Given the description of an element on the screen output the (x, y) to click on. 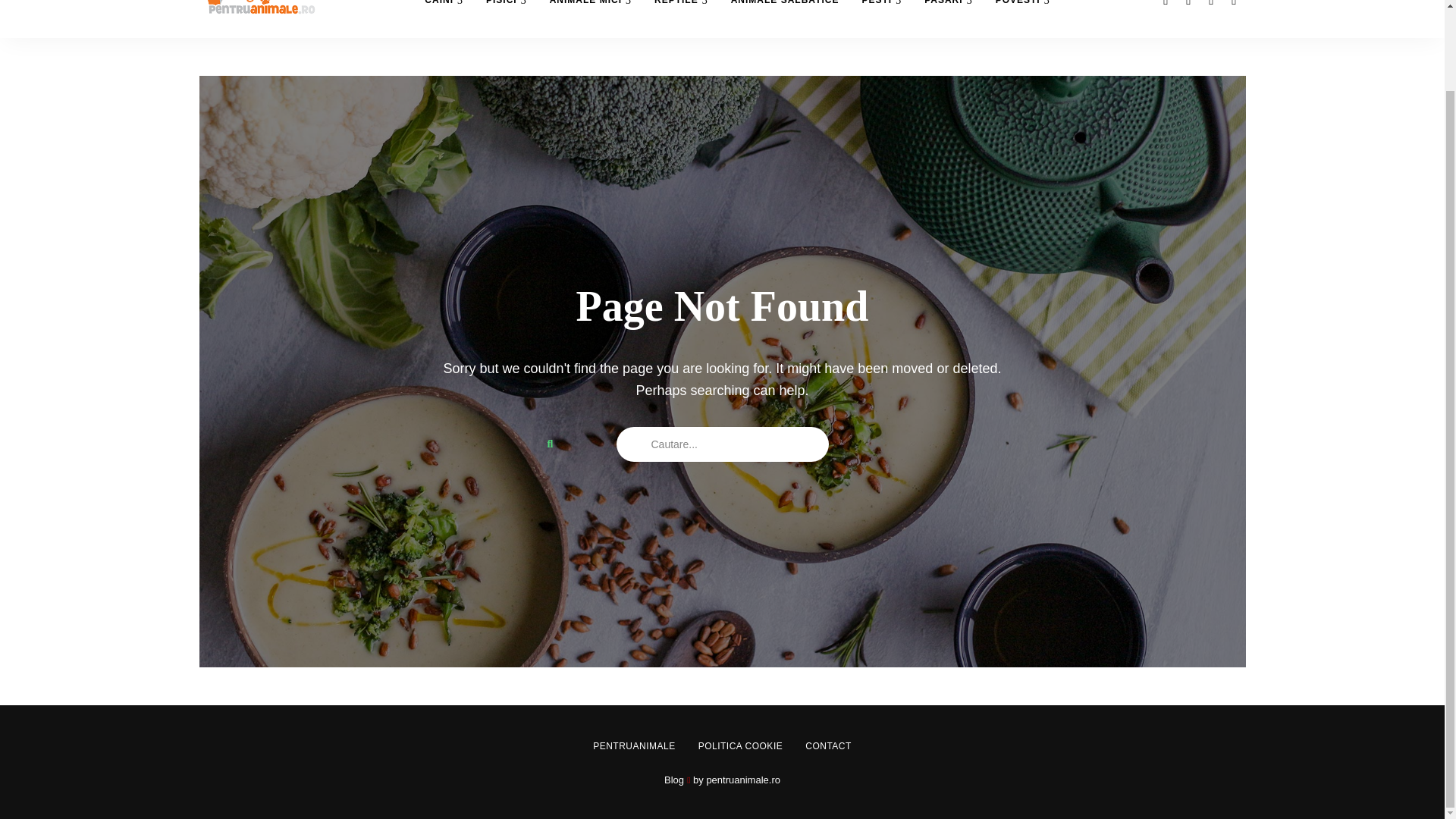
POVESTI (1022, 18)
CAINI (443, 18)
PASARI (948, 18)
ANIMALE SALBATICE (784, 18)
REPTILE (681, 18)
PISICI (506, 18)
PESTI (881, 18)
ANIMALE MICI (590, 18)
